Given the description of an element on the screen output the (x, y) to click on. 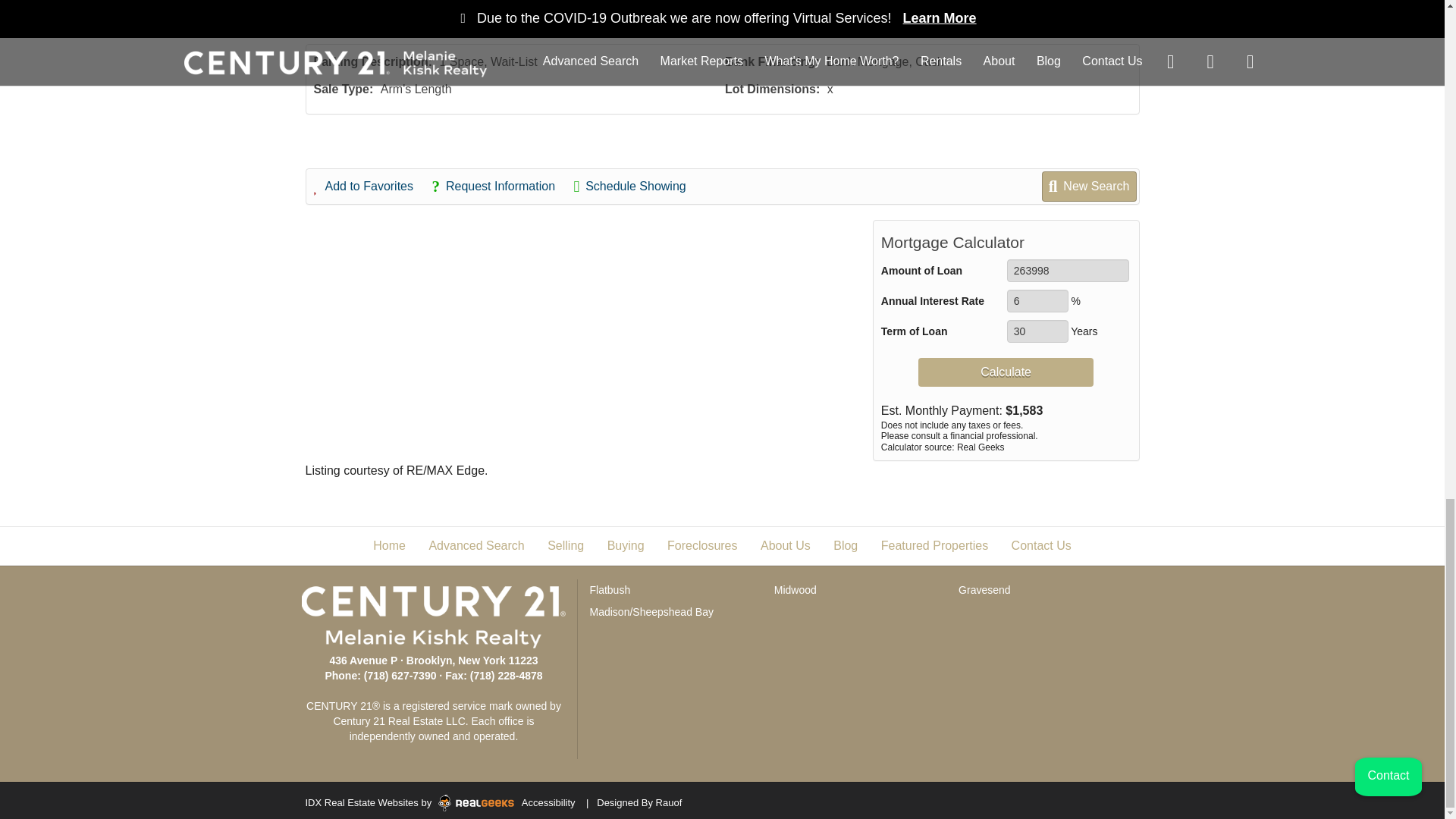
30 (1037, 331)
6 (1037, 300)
263998 (1068, 270)
